Given the description of an element on the screen output the (x, y) to click on. 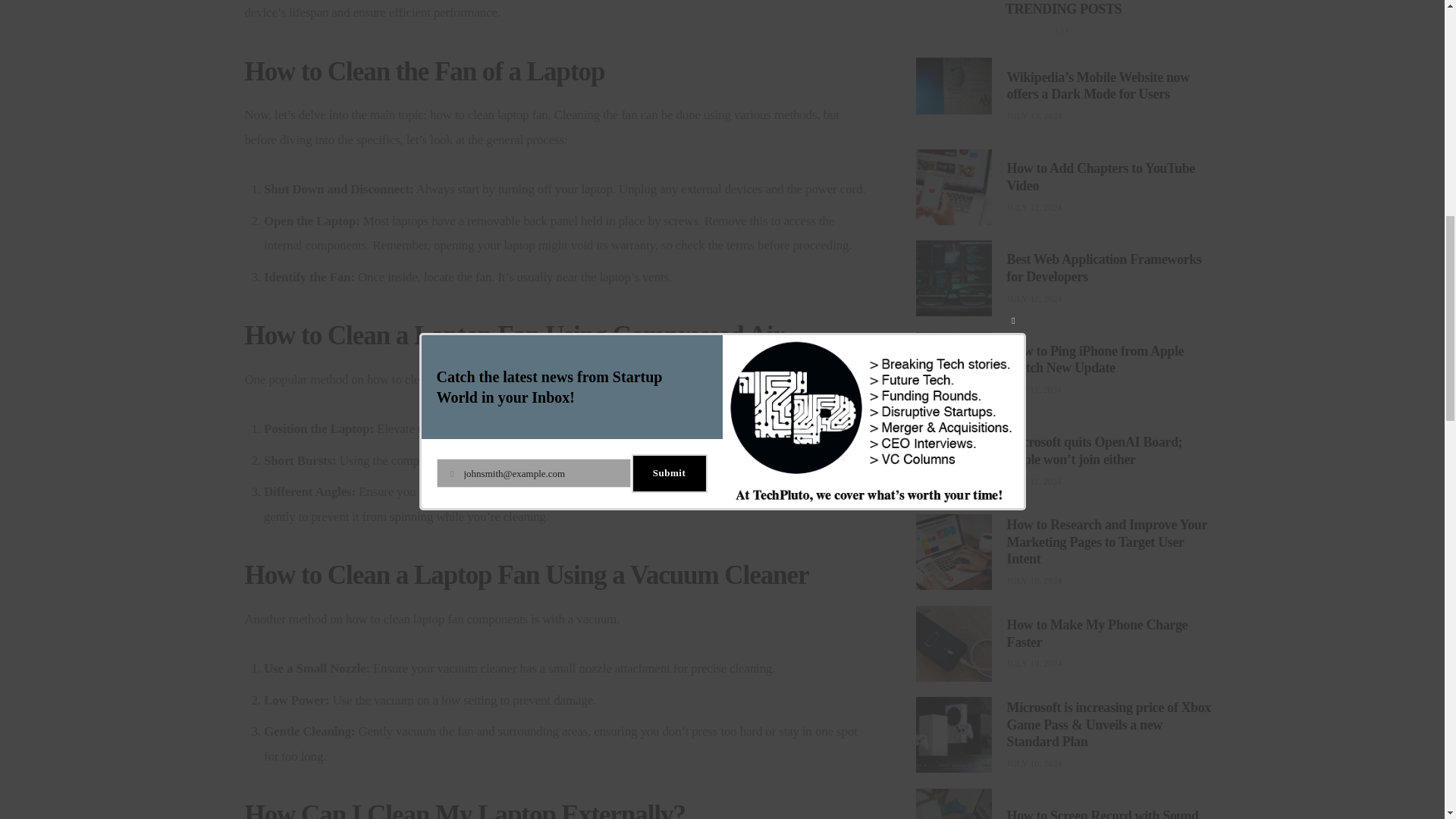
Get the latest kitchen gadgets (979, 579)
